Given the description of an element on the screen output the (x, y) to click on. 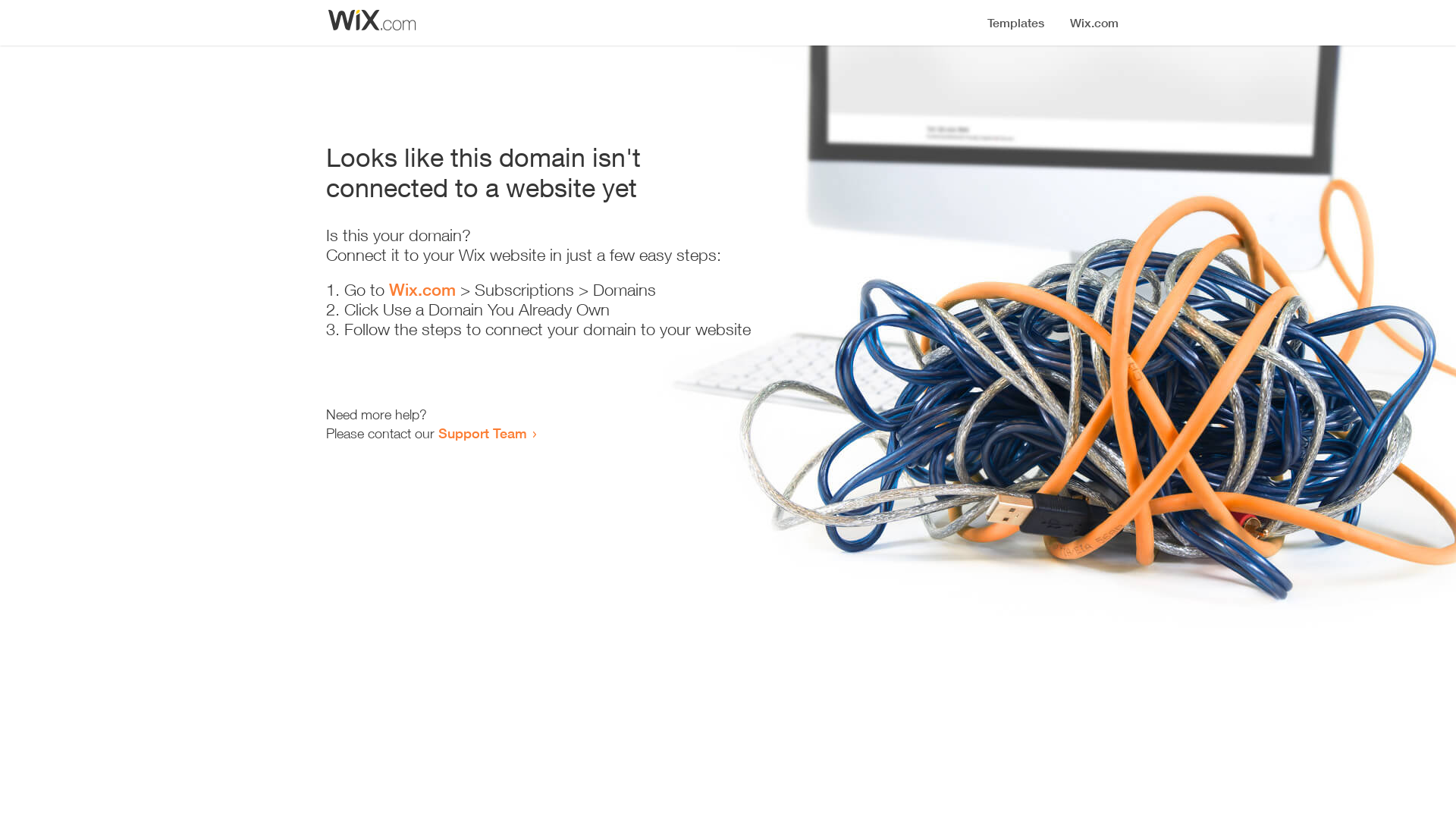
Wix.com Element type: text (422, 289)
Support Team Element type: text (482, 432)
